Given the description of an element on the screen output the (x, y) to click on. 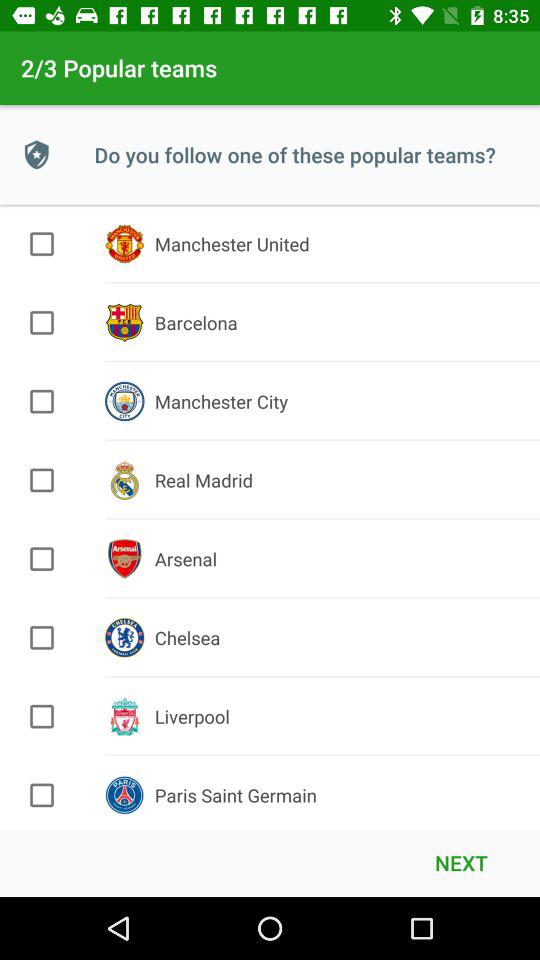
to choose (42, 559)
